Given the description of an element on the screen output the (x, y) to click on. 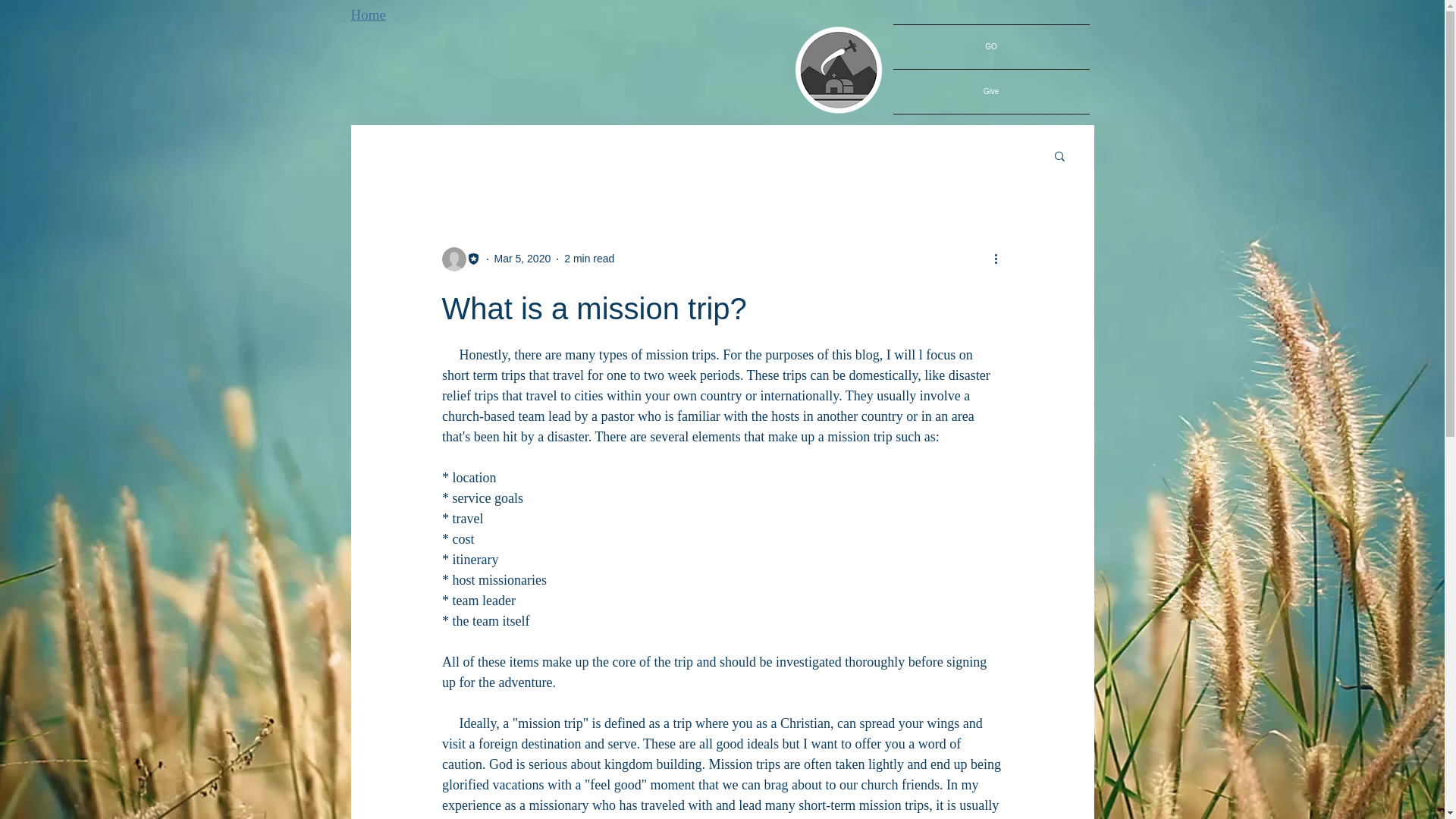
GO (991, 46)
Give (991, 91)
2 min read (589, 258)
Home (367, 14)
Mar 5, 2020 (523, 258)
